Given the description of an element on the screen output the (x, y) to click on. 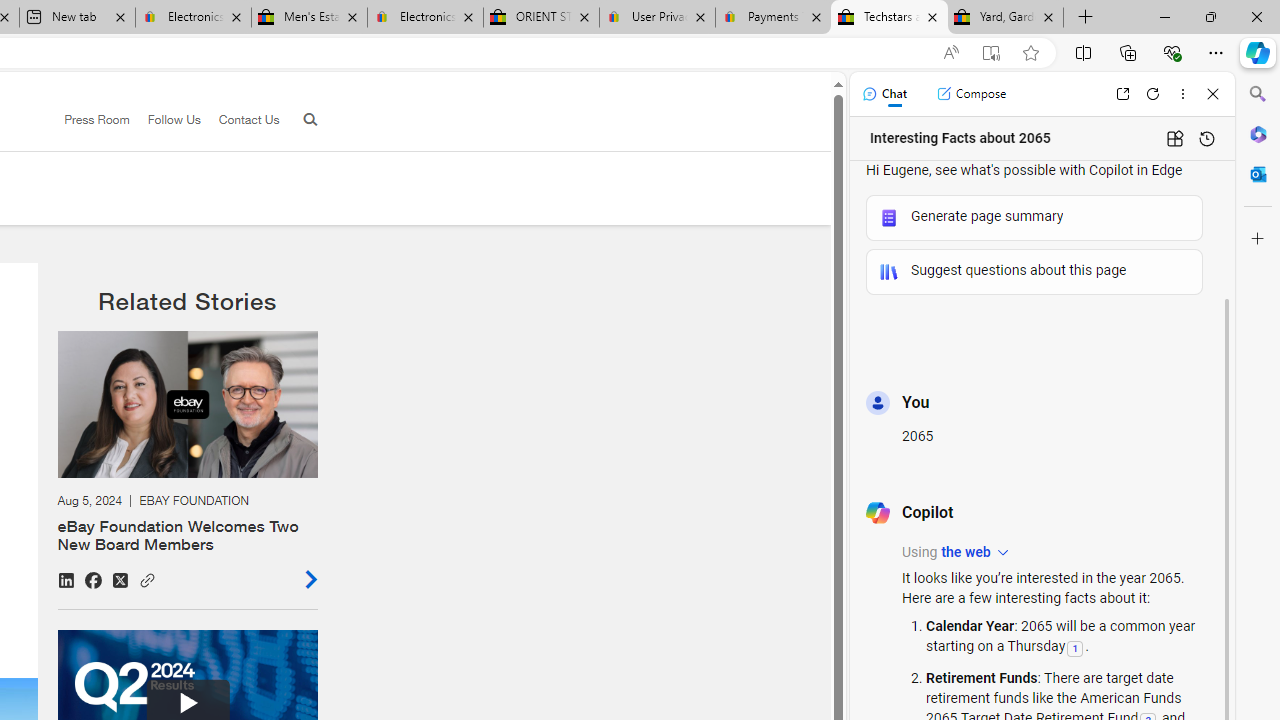
Copy link to clipboard (147, 578)
Share on LinkedIn (66, 580)
Share on X (Twitter) (120, 580)
